Given the description of an element on the screen output the (x, y) to click on. 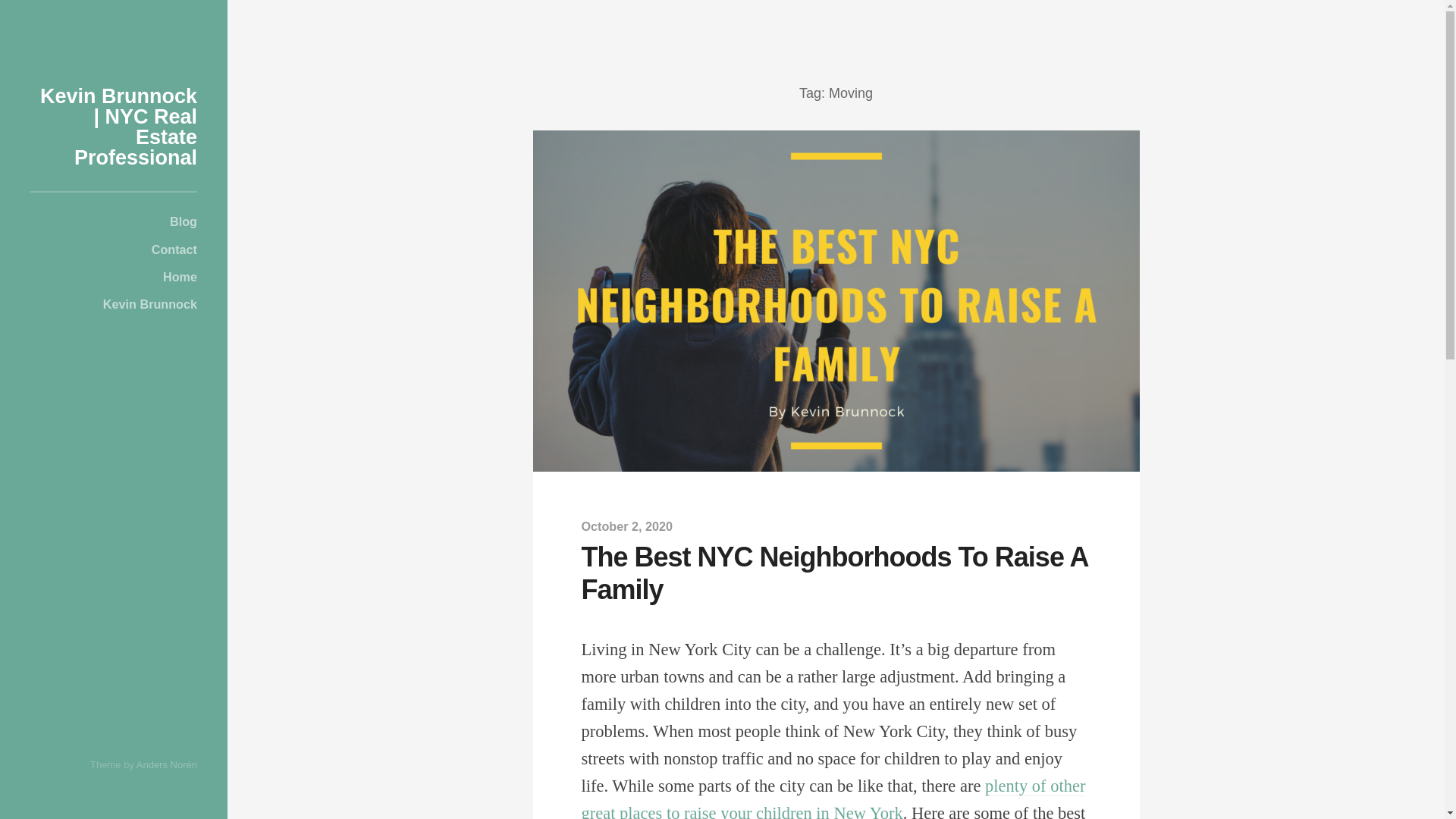
October 2, 2020 (626, 526)
Blog (113, 221)
Contact (113, 248)
Home (113, 276)
The Best NYC Neighborhoods To Raise A Family (833, 573)
The Best NYC Neighborhoods To Raise A Family (833, 573)
Kevin Brunnock (113, 304)
The Best NYC Neighborhoods To Raise A Family (626, 526)
